Given the description of an element on the screen output the (x, y) to click on. 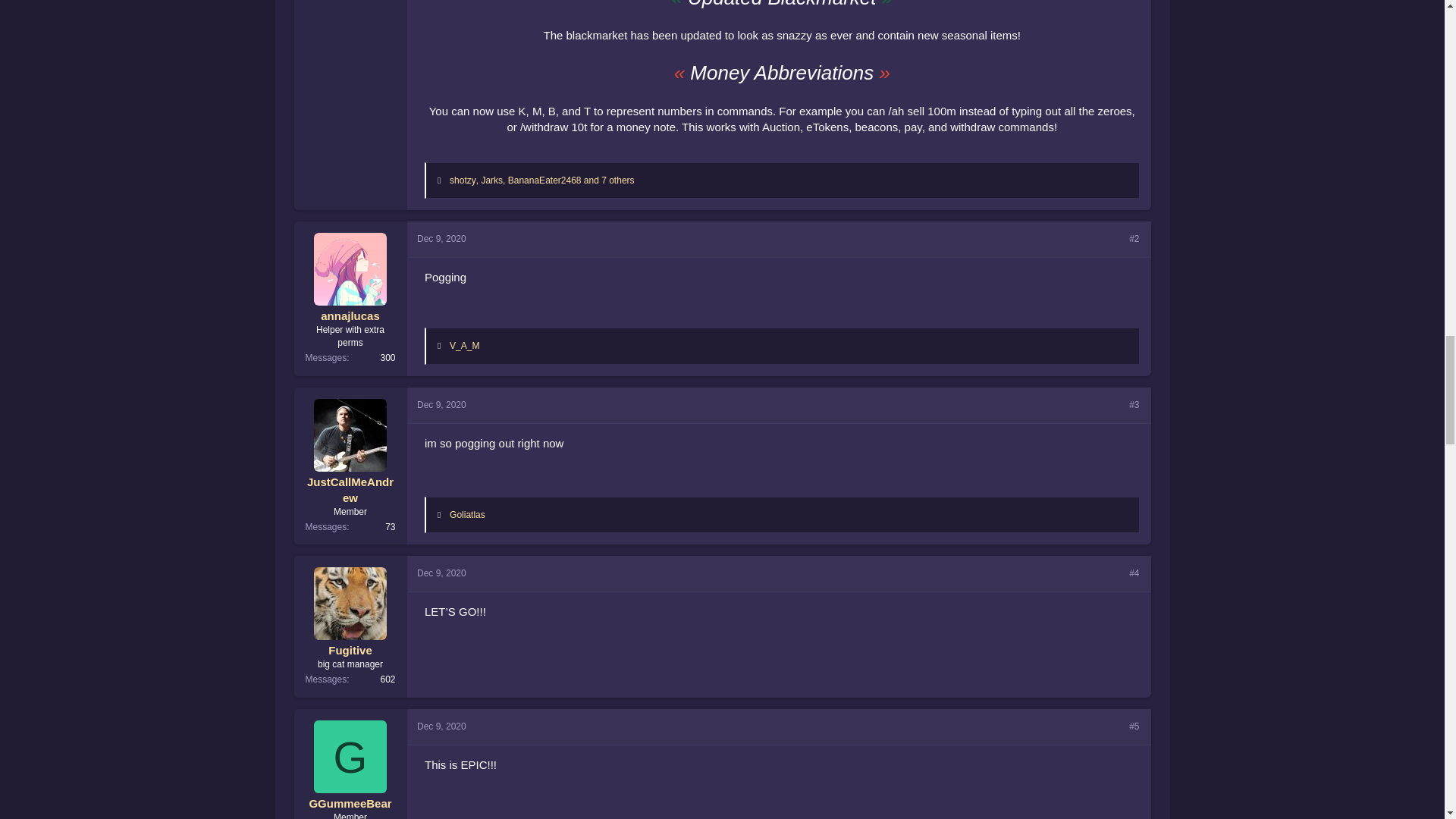
Likes (442, 514)
Dec 9, 2020 at 7:28 PM (440, 573)
shotzy, Jarks, BananaEater2468 and 7 others (541, 180)
Dec 9, 2020 at 7:16 PM (440, 238)
Likes (442, 180)
Likes (442, 345)
Dec 9, 2020 at 7:19 PM (440, 404)
Dec 9, 2020 at 7:36 PM (440, 726)
